Given the description of an element on the screen output the (x, y) to click on. 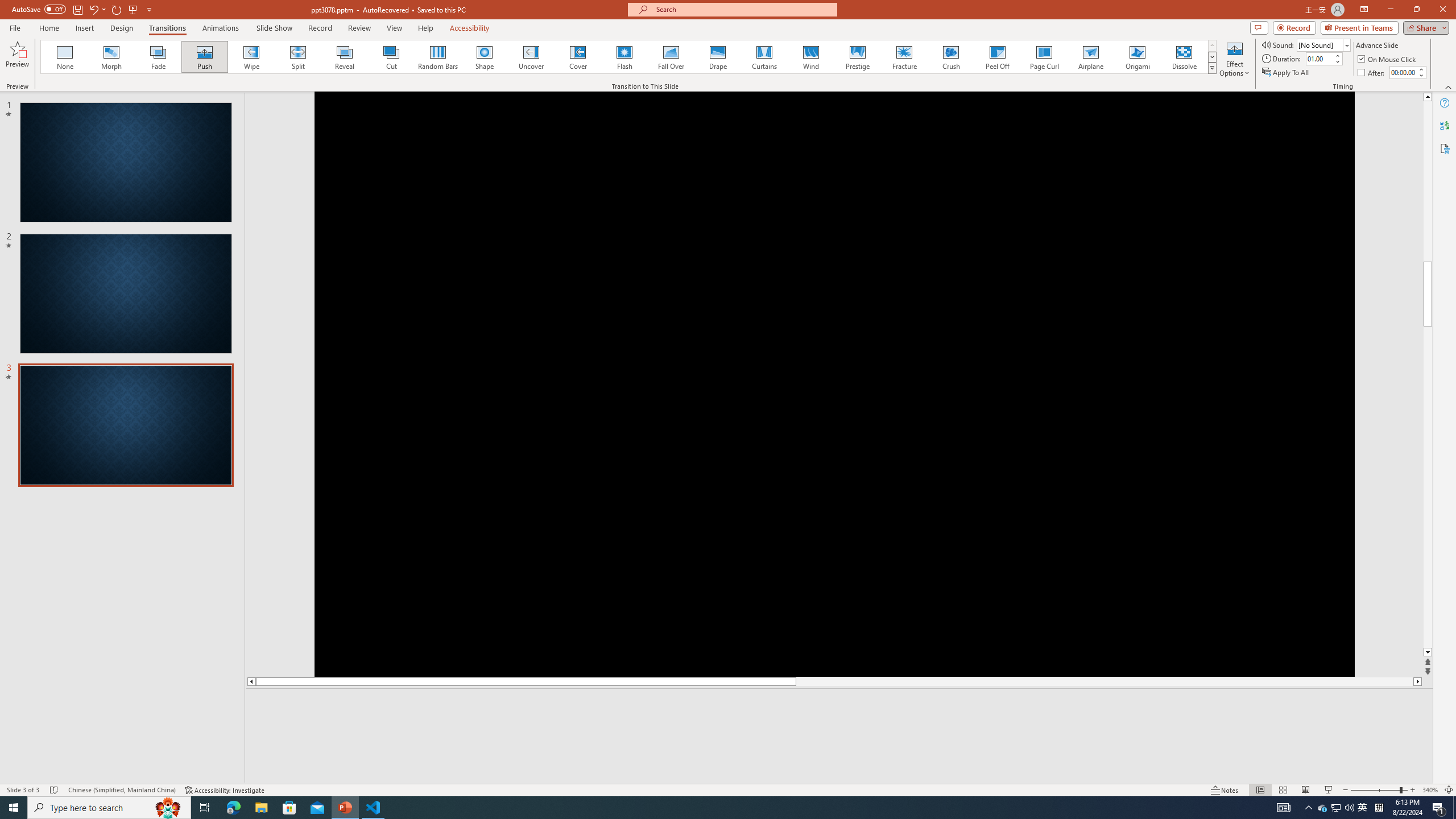
After (1372, 72)
Sound (1324, 44)
Dissolve (1183, 56)
Effect Options (1234, 58)
Transition Effects (1212, 67)
Cut (391, 56)
Crush (950, 56)
Morph (111, 56)
